Given the description of an element on the screen output the (x, y) to click on. 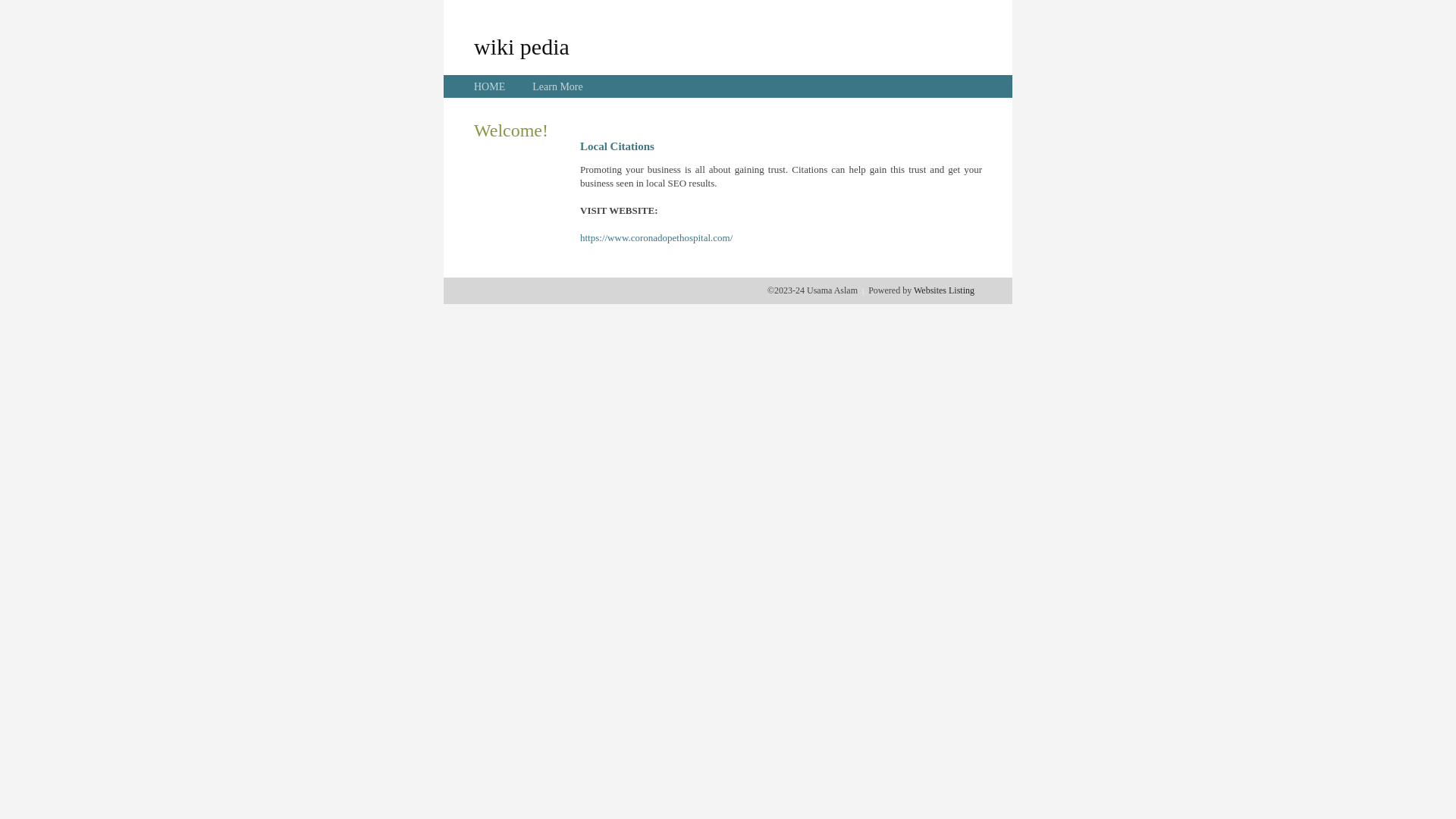
Learn More Element type: text (557, 86)
Websites Listing Element type: text (943, 290)
HOME Element type: text (489, 86)
wiki pedia Element type: text (521, 46)
https://www.coronadopethospital.com/ Element type: text (656, 237)
